Given the description of an element on the screen output the (x, y) to click on. 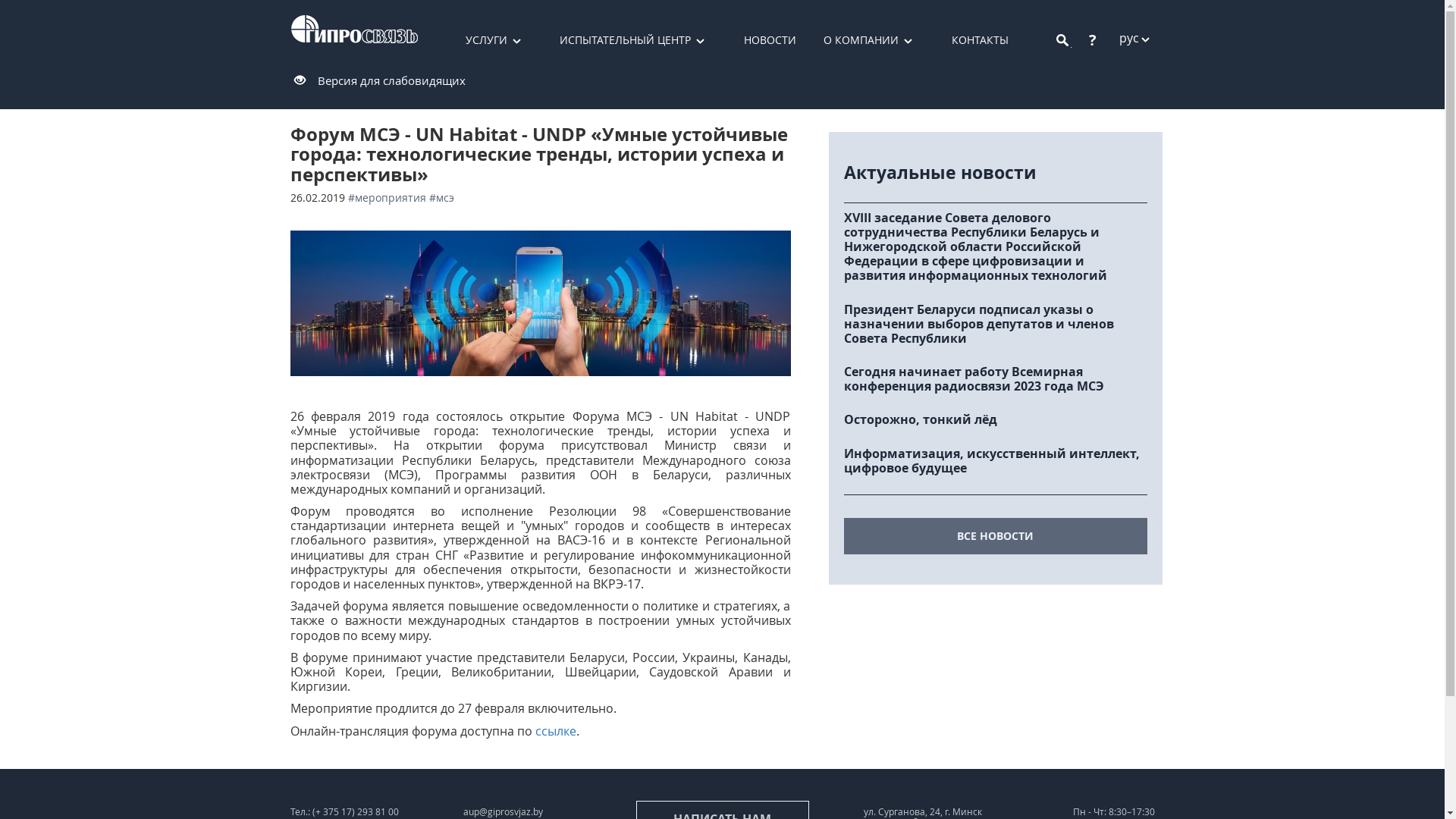
aup@giprosvjaz.by Element type: text (502, 811)
? Element type: text (1092, 39)
